Given the description of an element on the screen output the (x, y) to click on. 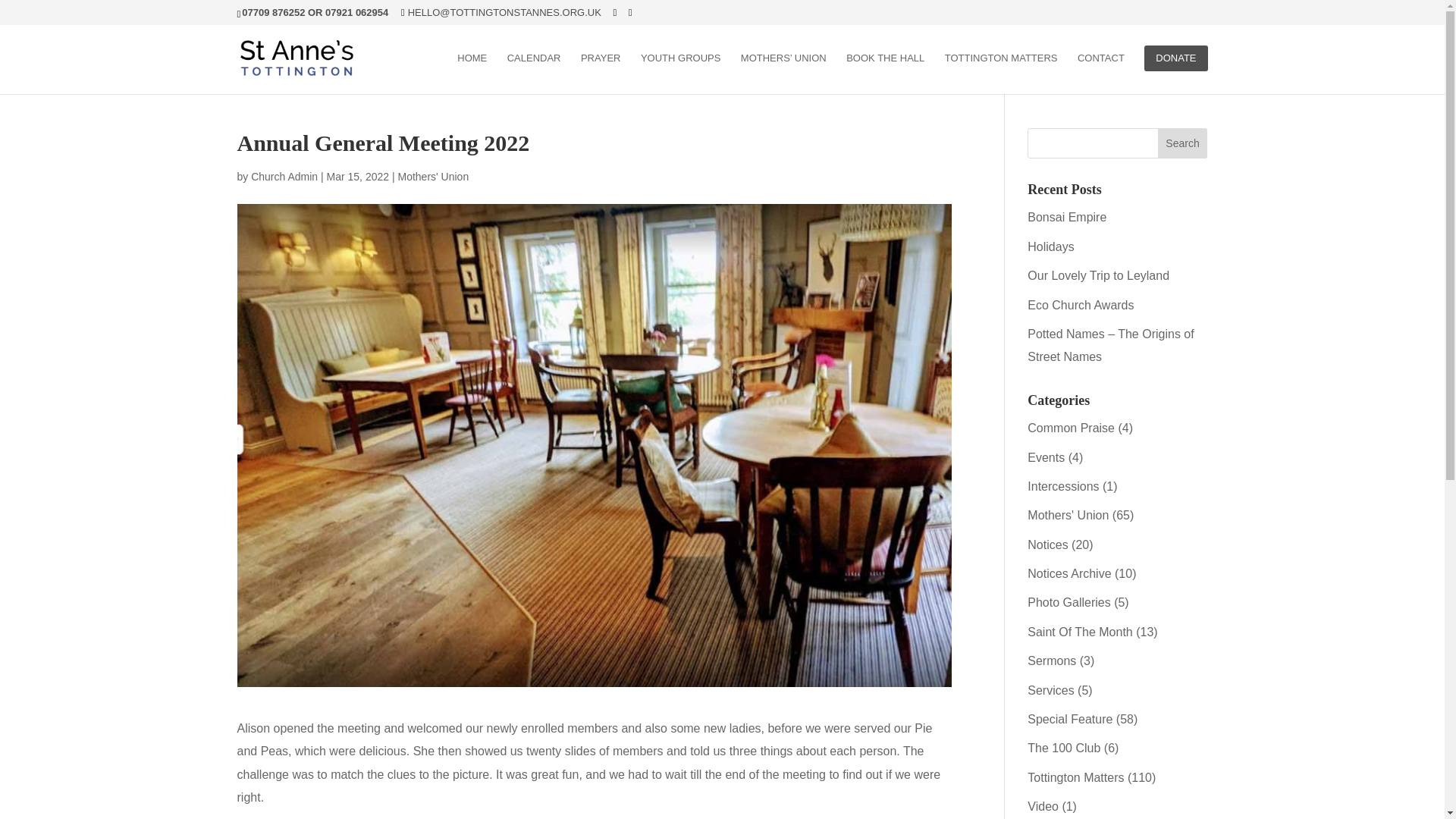
Mothers' Union (432, 176)
Events (1045, 457)
Notices Archive (1068, 573)
Special Feature (1069, 718)
Notices (1047, 544)
Posts by Church Admin (283, 176)
Bonsai Empire (1066, 216)
Services (1050, 689)
TOTTINGTON MATTERS (1001, 69)
Eco Church Awards (1080, 305)
Photo Galleries (1068, 602)
PRAYER (600, 69)
Search (1182, 142)
Our Lovely Trip to Leyland (1098, 275)
CONTACT (1100, 69)
